Given the description of an element on the screen output the (x, y) to click on. 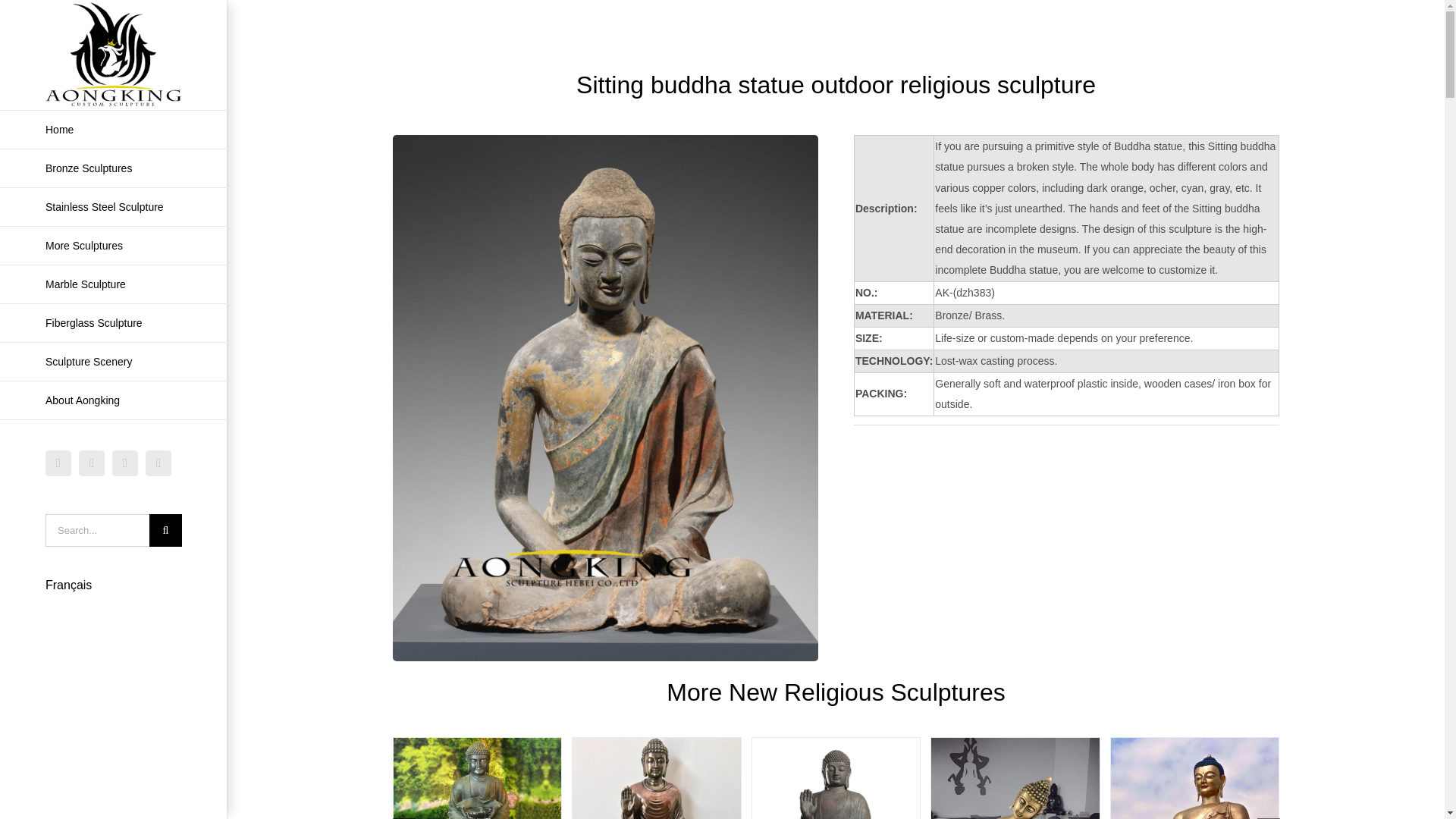
Bronze Sculptures (113, 168)
Home of Aongking sculpture (113, 129)
Home (113, 129)
Bronze Sculptures (113, 168)
